Given the description of an element on the screen output the (x, y) to click on. 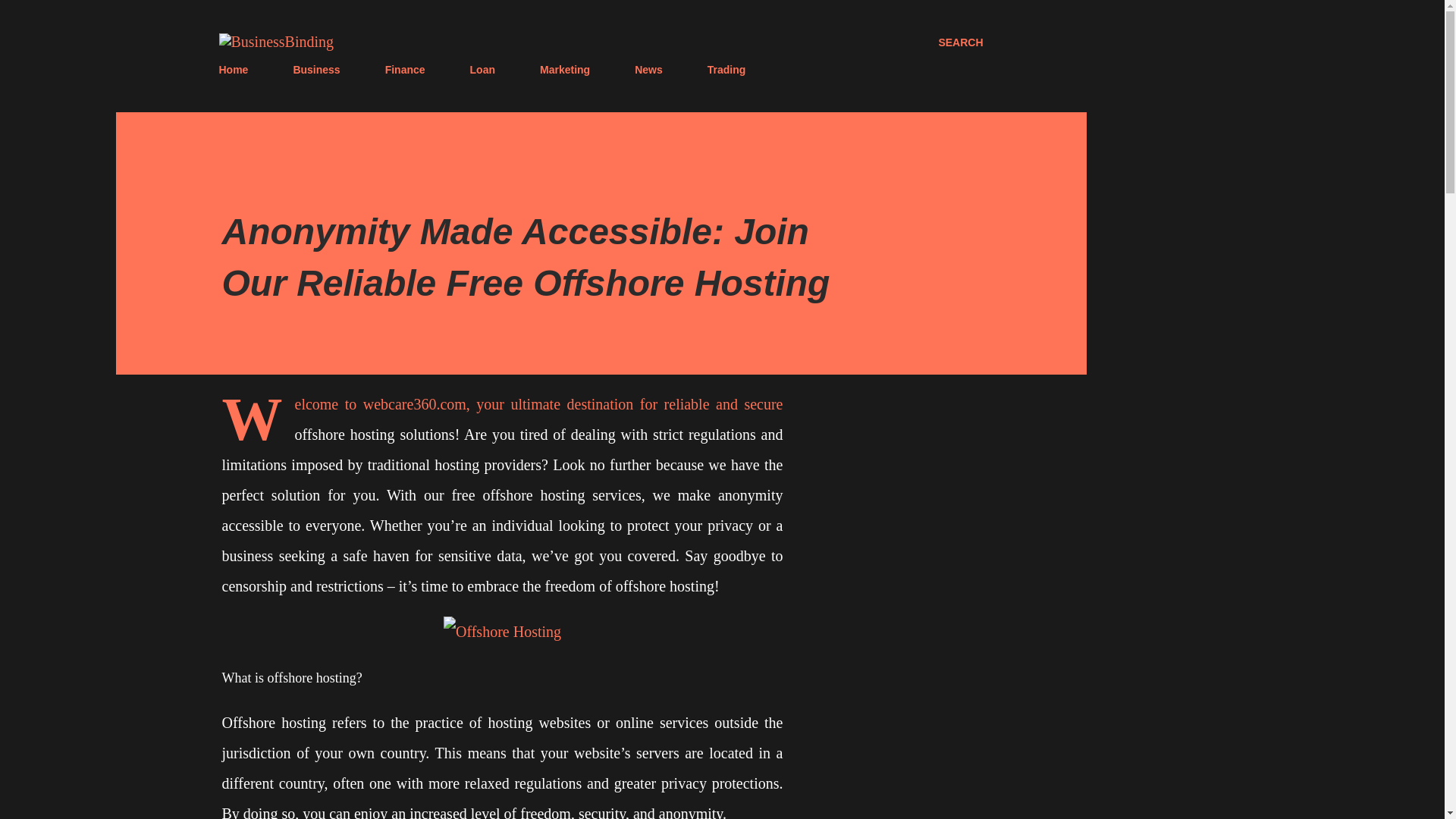
Offshore Hosting (502, 631)
Loan (482, 69)
SEARCH (959, 42)
Marketing (564, 69)
Finance (404, 69)
News (648, 69)
Business (316, 69)
Trading (726, 69)
Home (237, 69)
